Given the description of an element on the screen output the (x, y) to click on. 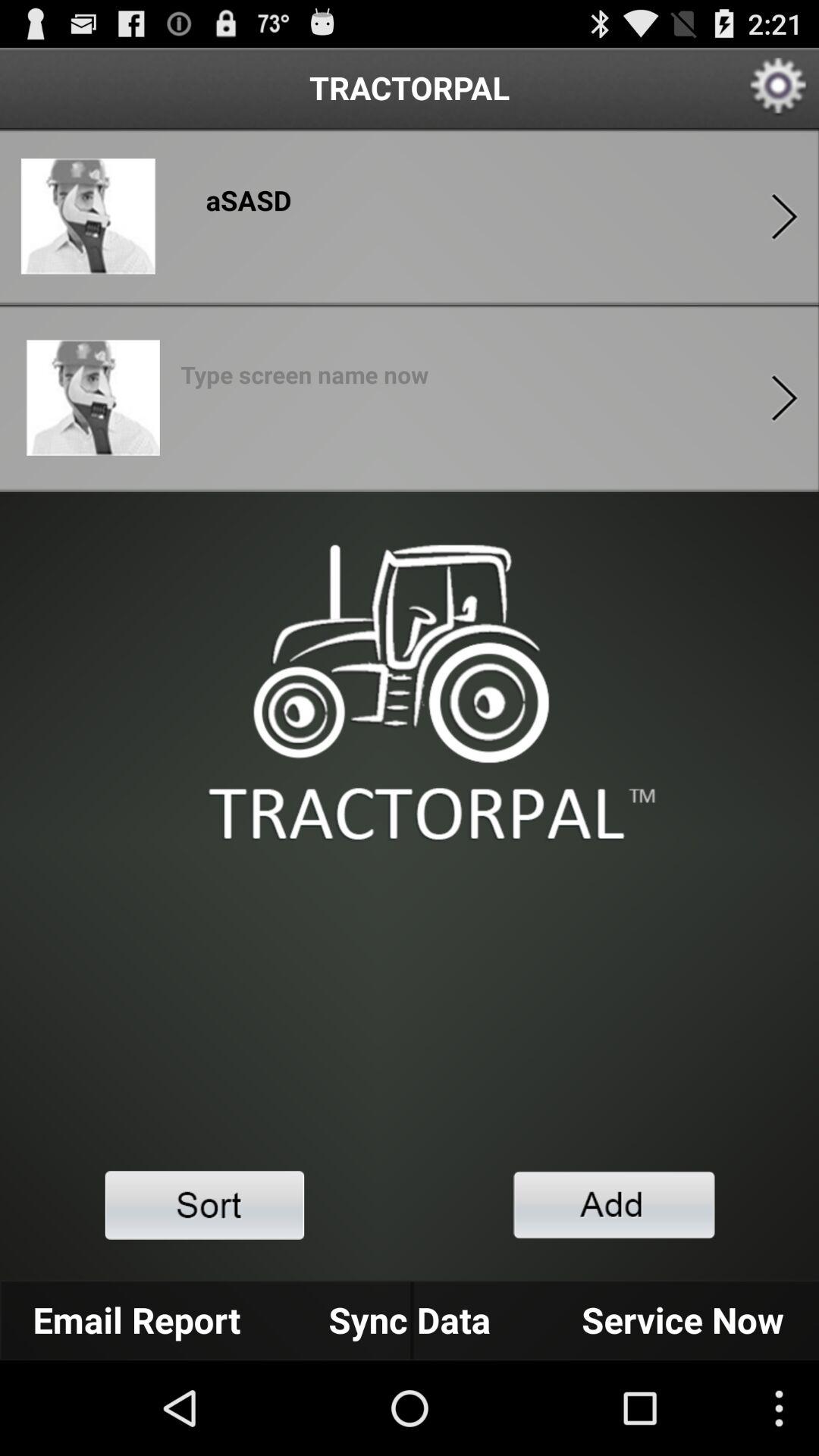
settings (779, 87)
